Given the description of an element on the screen output the (x, y) to click on. 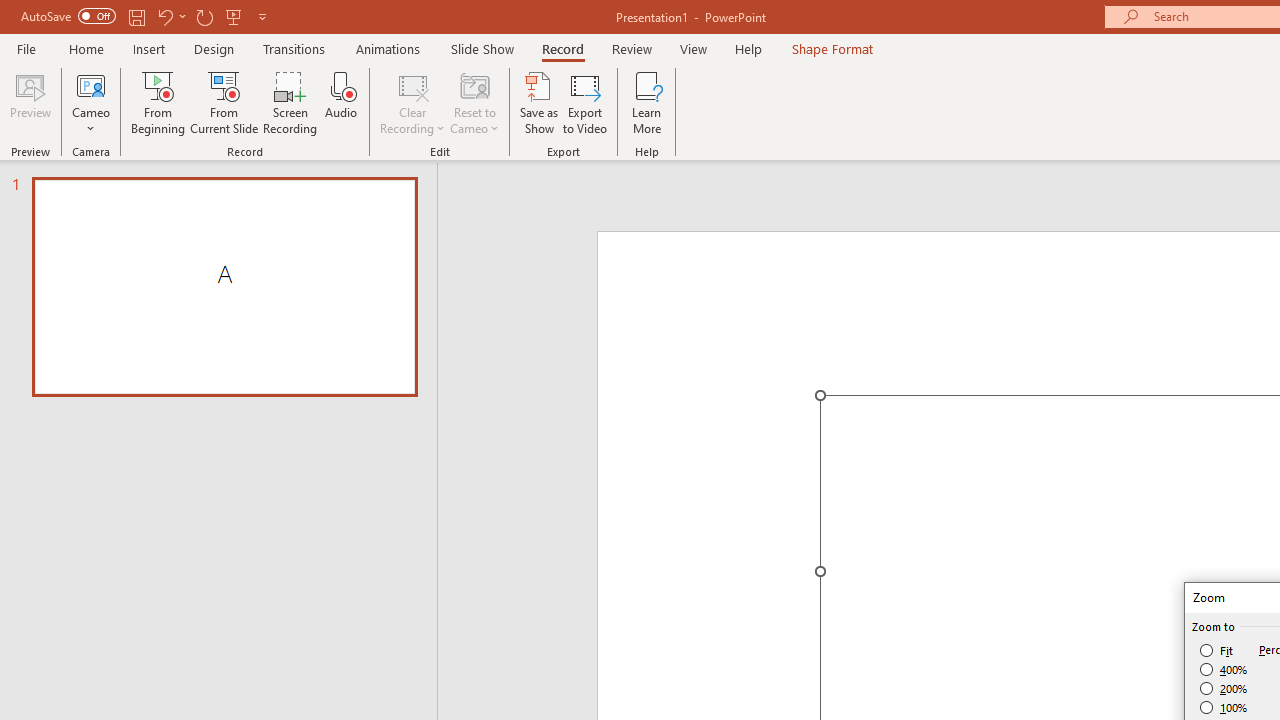
400% (1224, 669)
Fit (1217, 650)
